Given the description of an element on the screen output the (x, y) to click on. 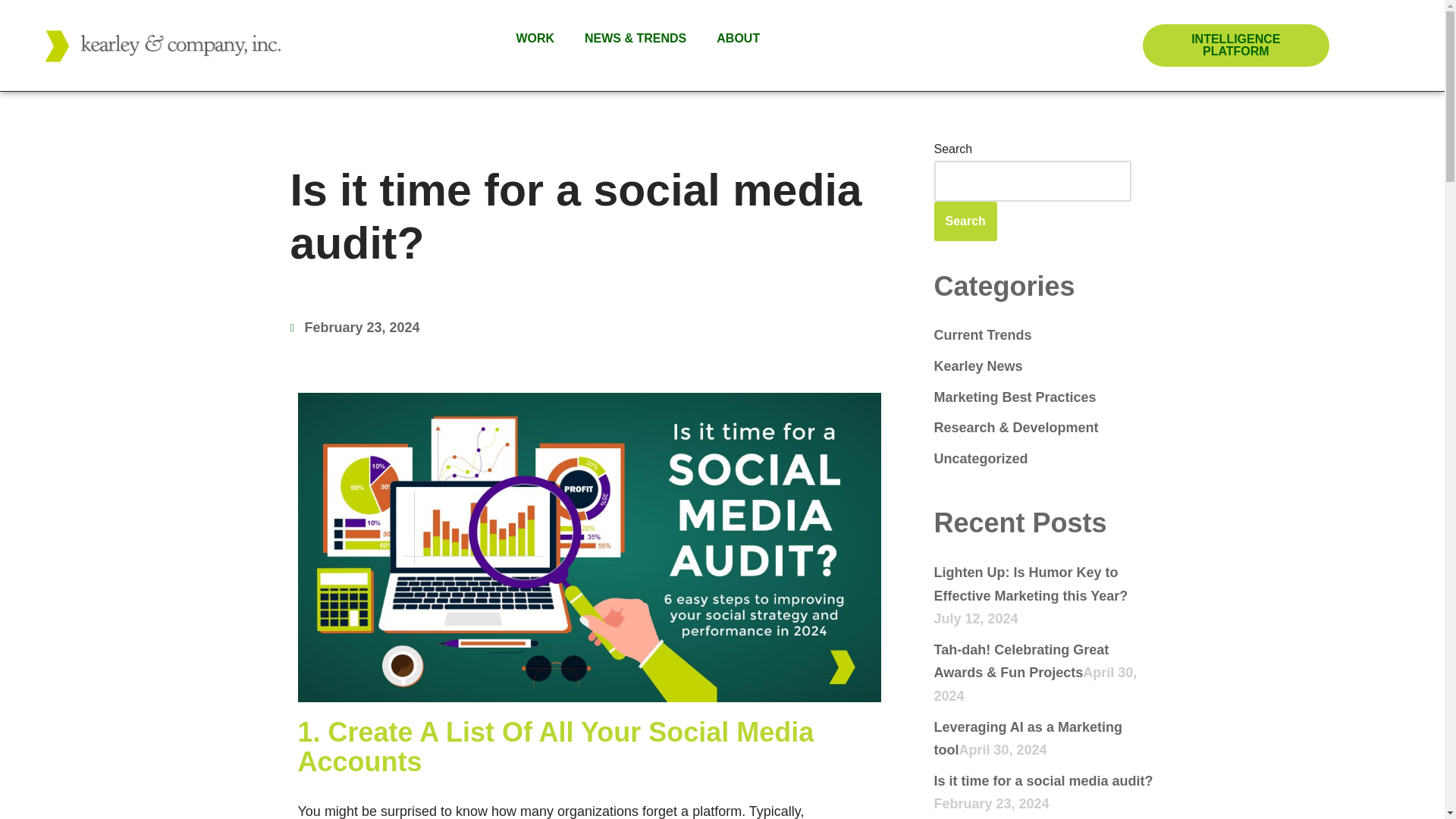
Marketing Best Practices (1015, 396)
February 23, 2024 (354, 327)
ABOUT (737, 38)
Uncategorized (980, 458)
WORK (534, 38)
Kearley News (978, 365)
Skip to content (11, 31)
Is it time for a social media audit? (1043, 780)
Lighten Up: Is Humor Key to Effective Marketing this Year? (1031, 584)
Leveraging AI as a Marketing tool (1028, 738)
